Given the description of an element on the screen output the (x, y) to click on. 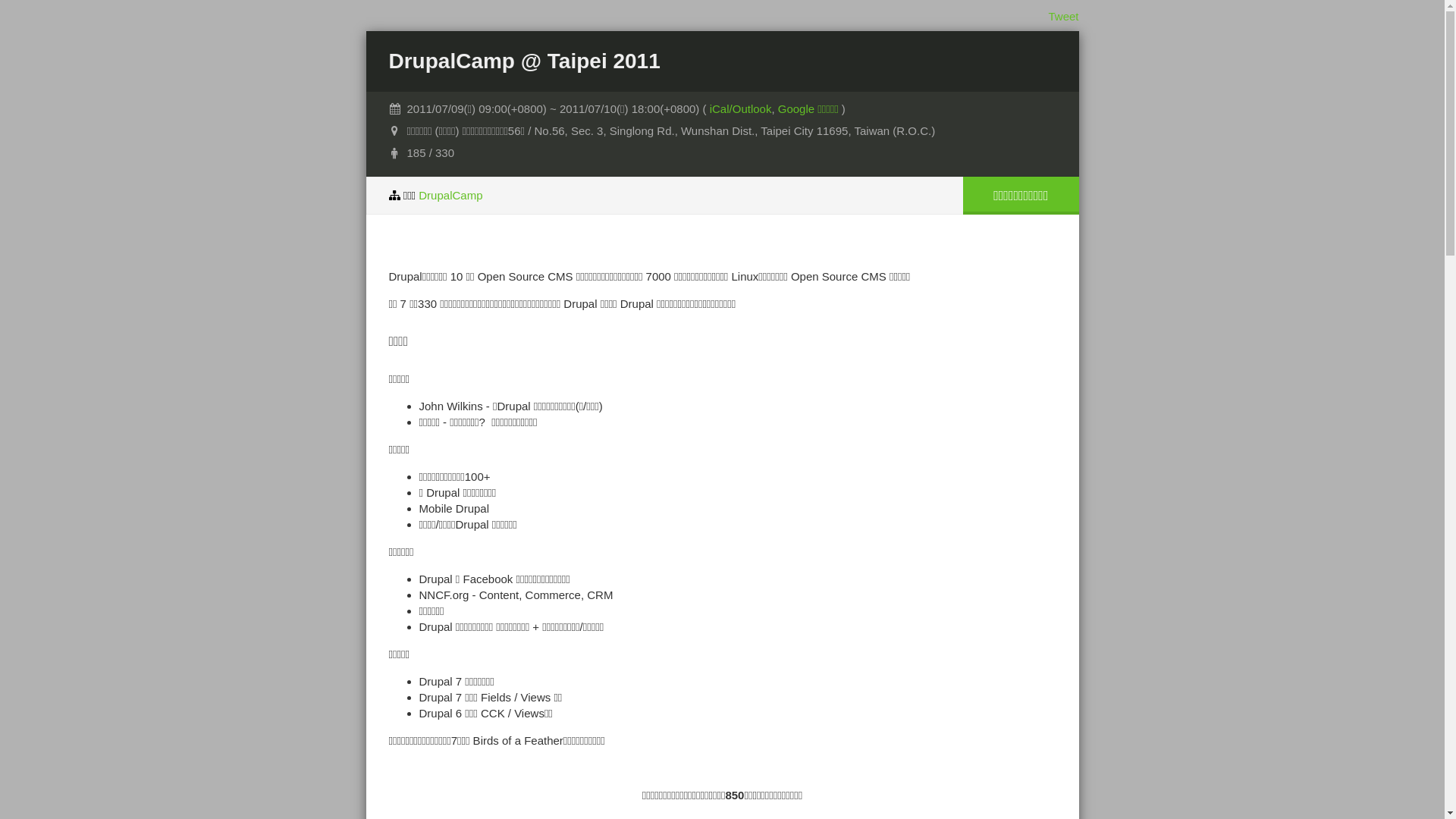
DrupalCamp Element type: text (450, 194)
Tweet Element type: text (1063, 15)
iCal/Outlook Element type: text (740, 108)
